Given the description of an element on the screen output the (x, y) to click on. 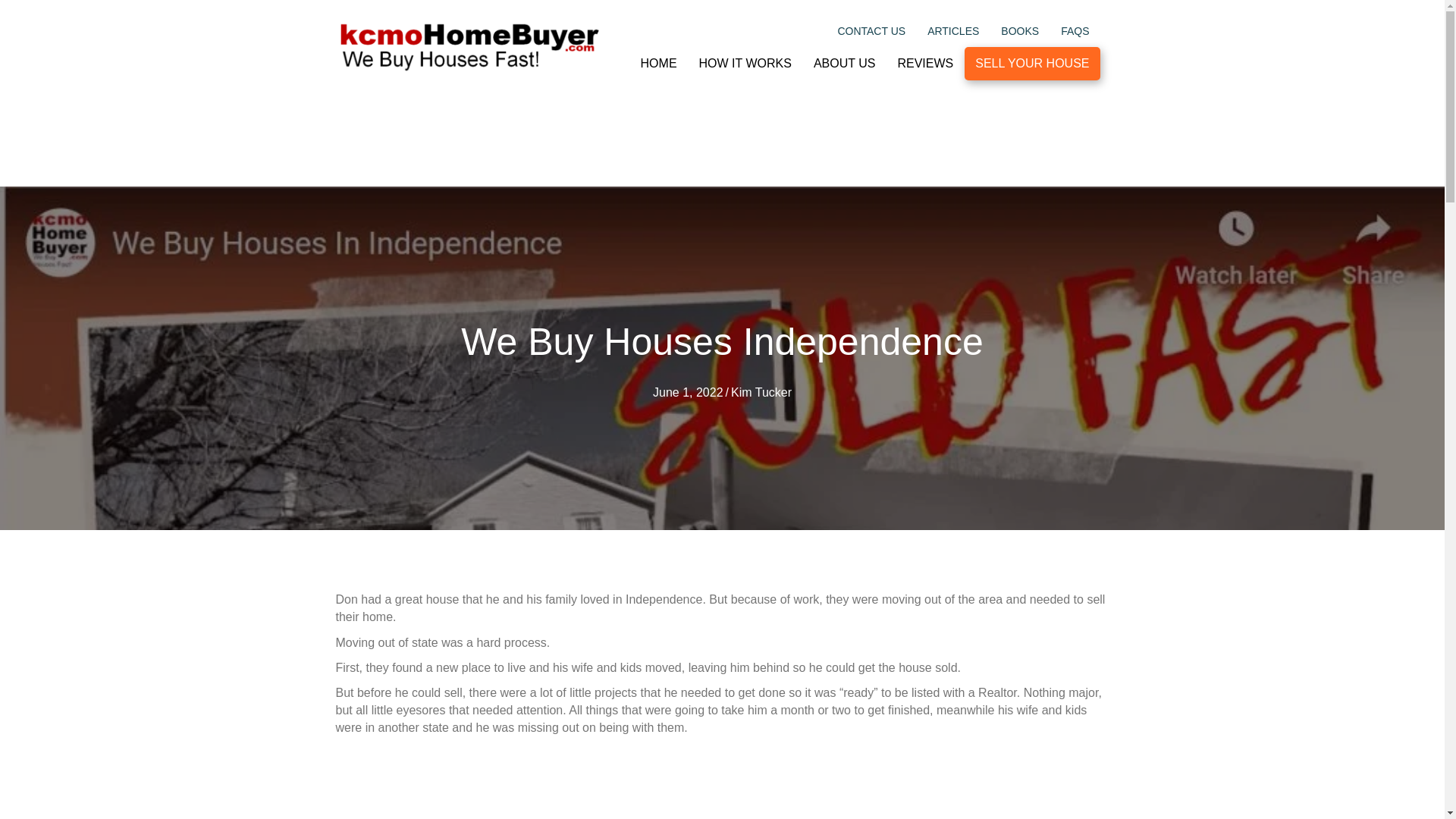
CONTACT US (871, 30)
REVIEWS (924, 63)
We Buy Houses In Independence (524, 781)
BOOKS (1019, 30)
ABOUT US (844, 63)
HOW IT WORKS (745, 63)
FAQS (1074, 30)
kcmoHomeBuyer logo (468, 47)
HOME (658, 63)
SELL YOUR HOUSE (1031, 63)
